Given the description of an element on the screen output the (x, y) to click on. 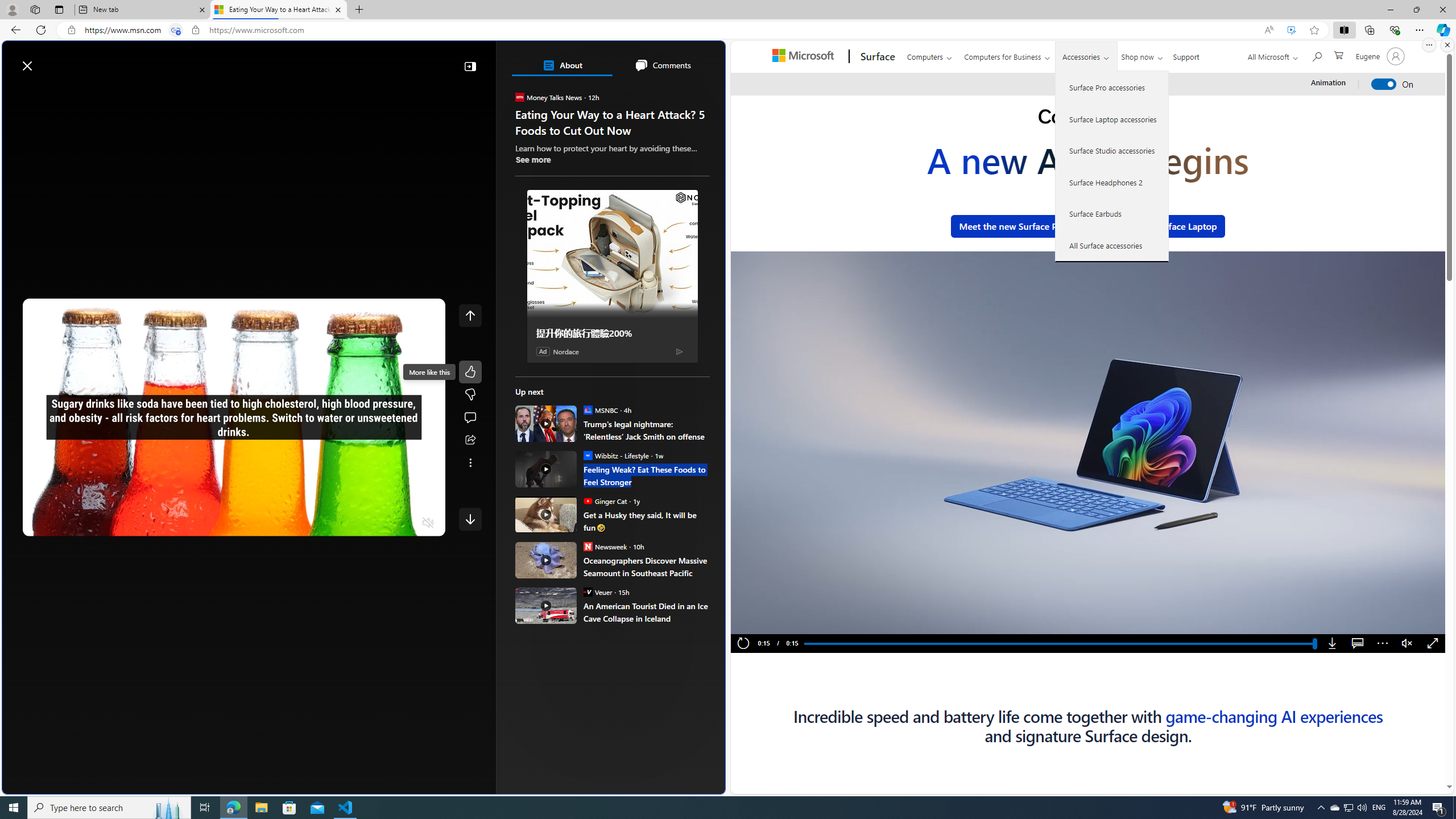
Collapse (469, 65)
Surface Studio accessories (1112, 150)
Enter your search term (366, 59)
Eating Your Way to a Heart Attack? 5 Foods to Cut Out Now (277, 9)
Surface Pro accessories (1112, 87)
Unmute (1406, 643)
All Surface accessories (1112, 245)
